Given the description of an element on the screen output the (x, y) to click on. 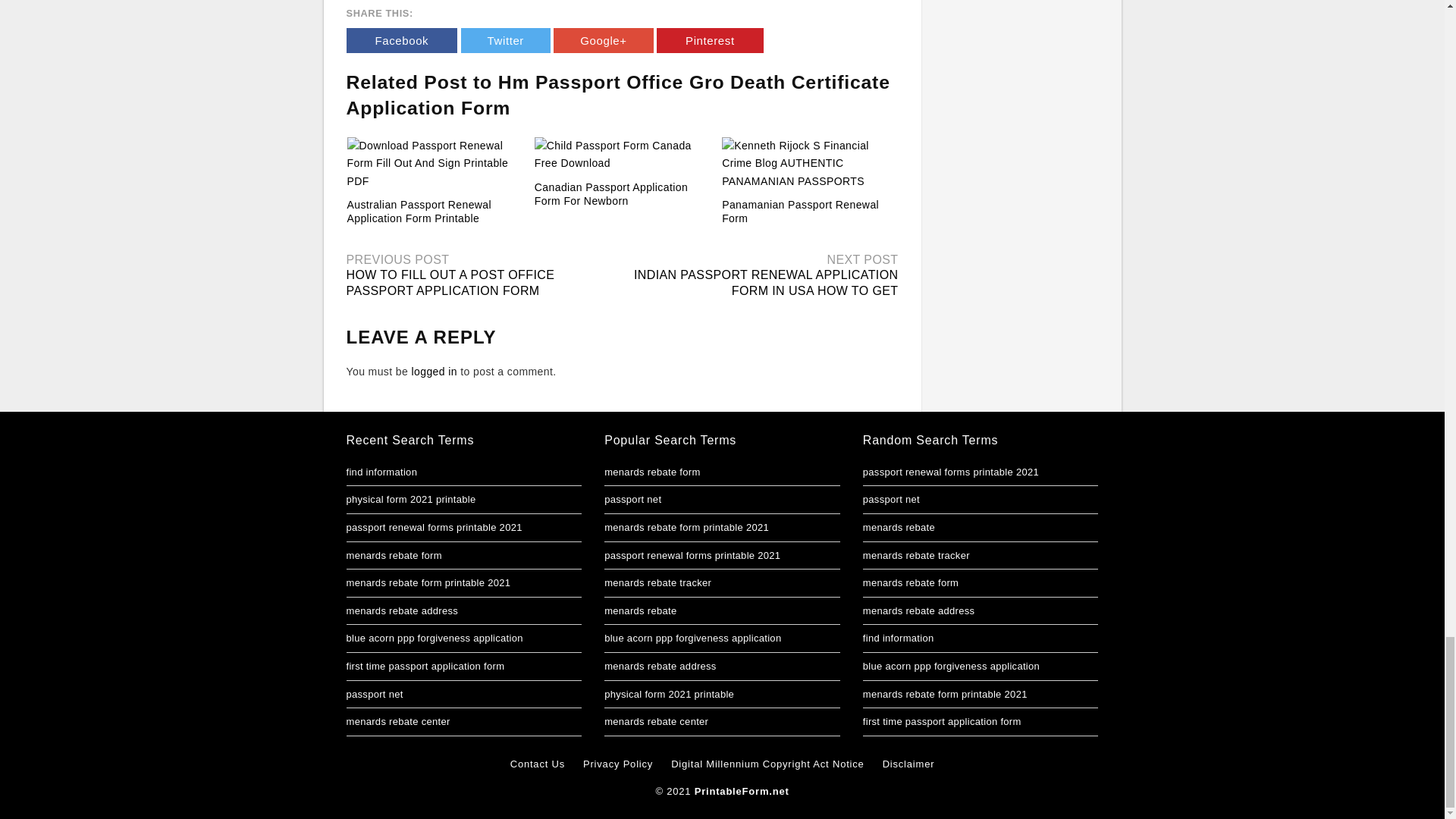
Panamanian Passport Renewal Form (809, 163)
Twitter (505, 40)
Panamanian Passport Renewal Form (800, 211)
logged in (434, 371)
Canadian Passport Application Form For Newborn (610, 193)
Australian Passport Renewal Application Form Printable (419, 211)
Facebook (401, 40)
Canadian Passport Application Form For Newborn (610, 193)
Pinterest (709, 40)
Australian Passport Renewal Application Form Printable (419, 211)
INDIAN PASSPORT RENEWAL APPLICATION FORM IN USA HOW TO GET (765, 282)
HOW TO FILL OUT A POST OFFICE PASSPORT APPLICATION FORM (450, 282)
Canadian Passport Application Form For Newborn (622, 154)
Panamanian Passport Renewal Form (800, 211)
Australian Passport Renewal Application Form Printable (434, 163)
